Given the description of an element on the screen output the (x, y) to click on. 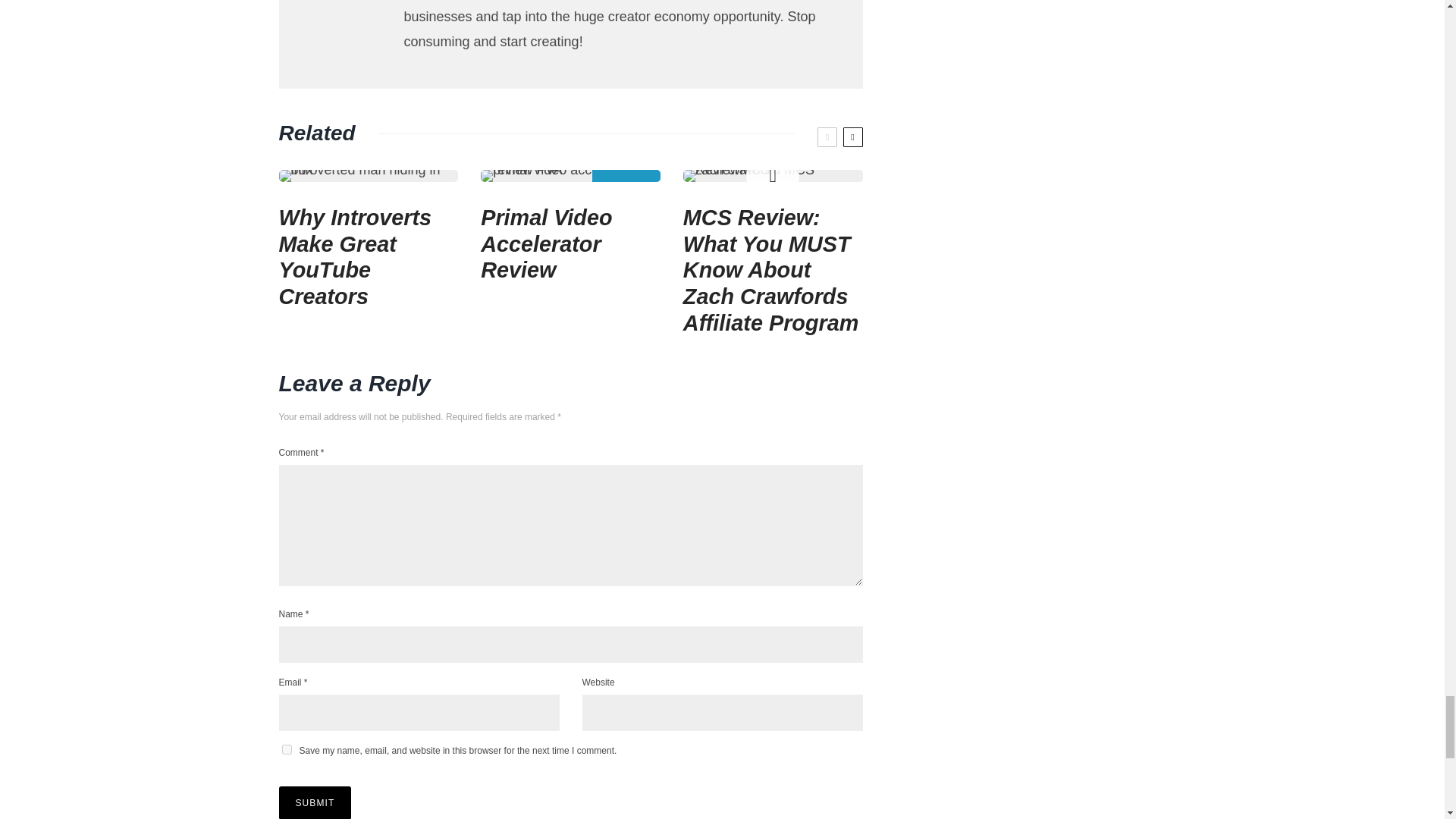
yes (287, 749)
Submit (315, 802)
